Given the description of an element on the screen output the (x, y) to click on. 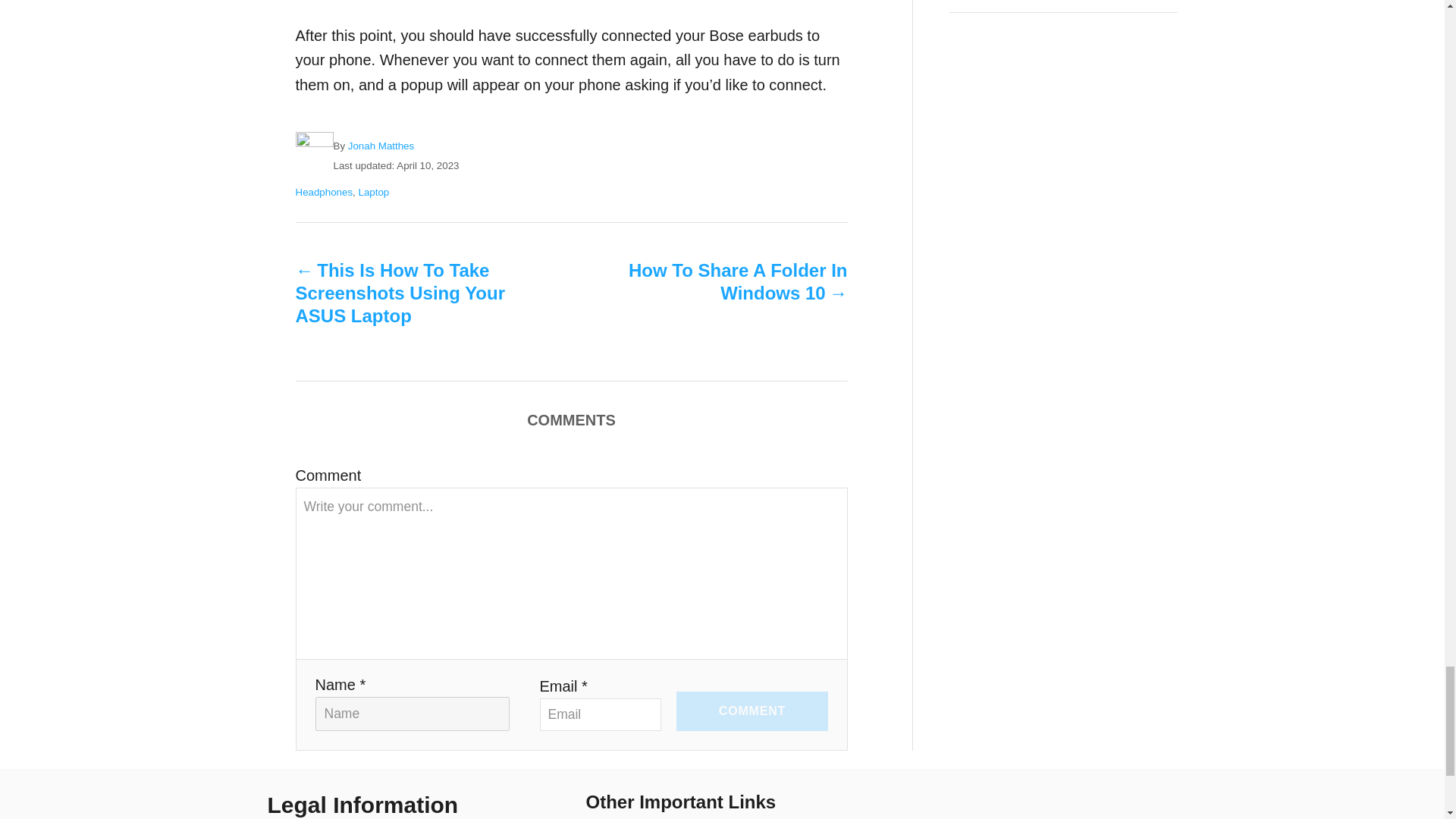
How To Share A Folder In Windows 10 (736, 281)
Headphones (324, 192)
Jonah Matthes (380, 145)
COMMENT (752, 711)
Laptop (373, 192)
This Is How To Take Screenshots Using Your ASUS Laptop (405, 293)
